Given the description of an element on the screen output the (x, y) to click on. 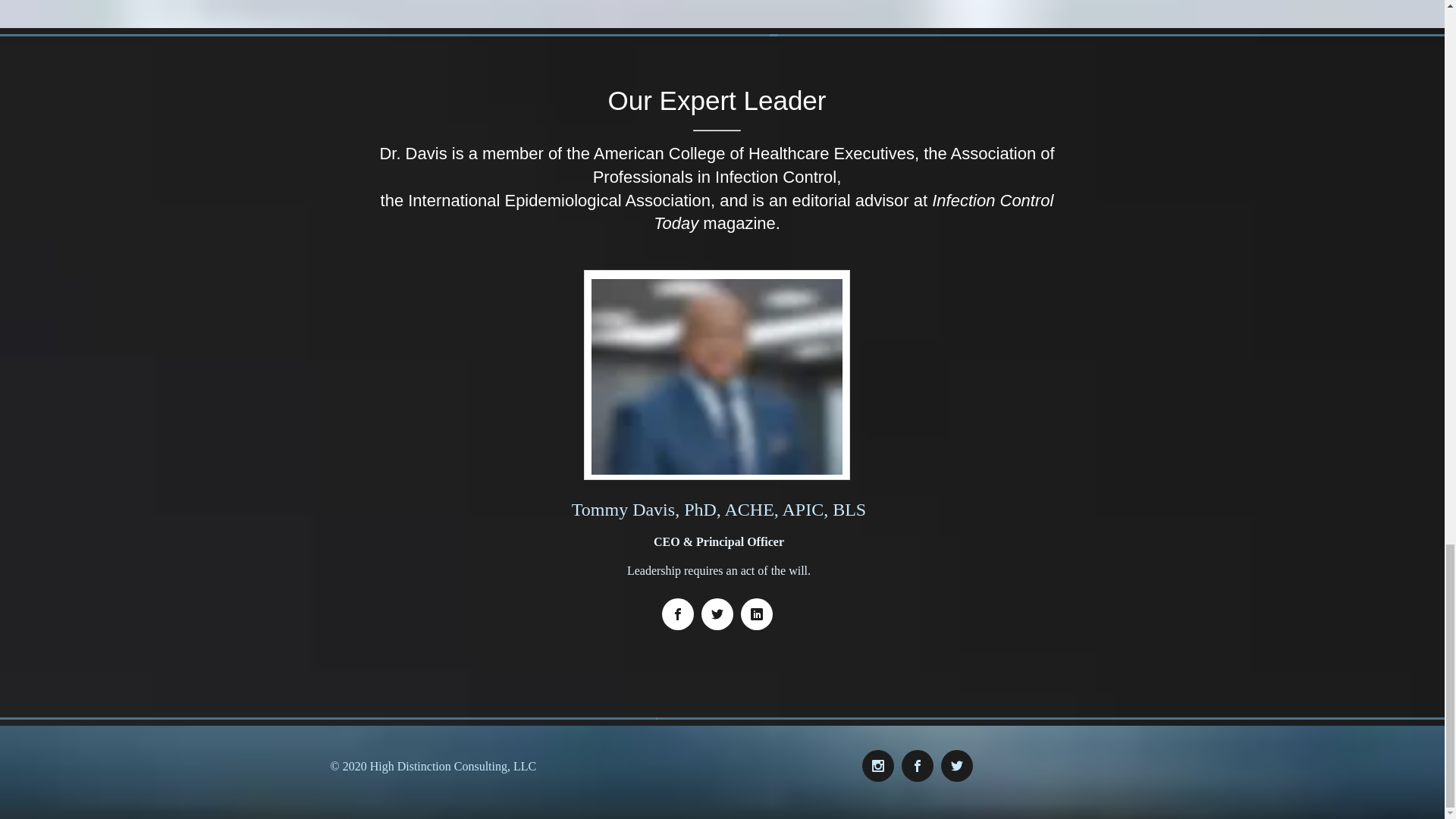
Infection Control Today (852, 211)
